Given the description of an element on the screen output the (x, y) to click on. 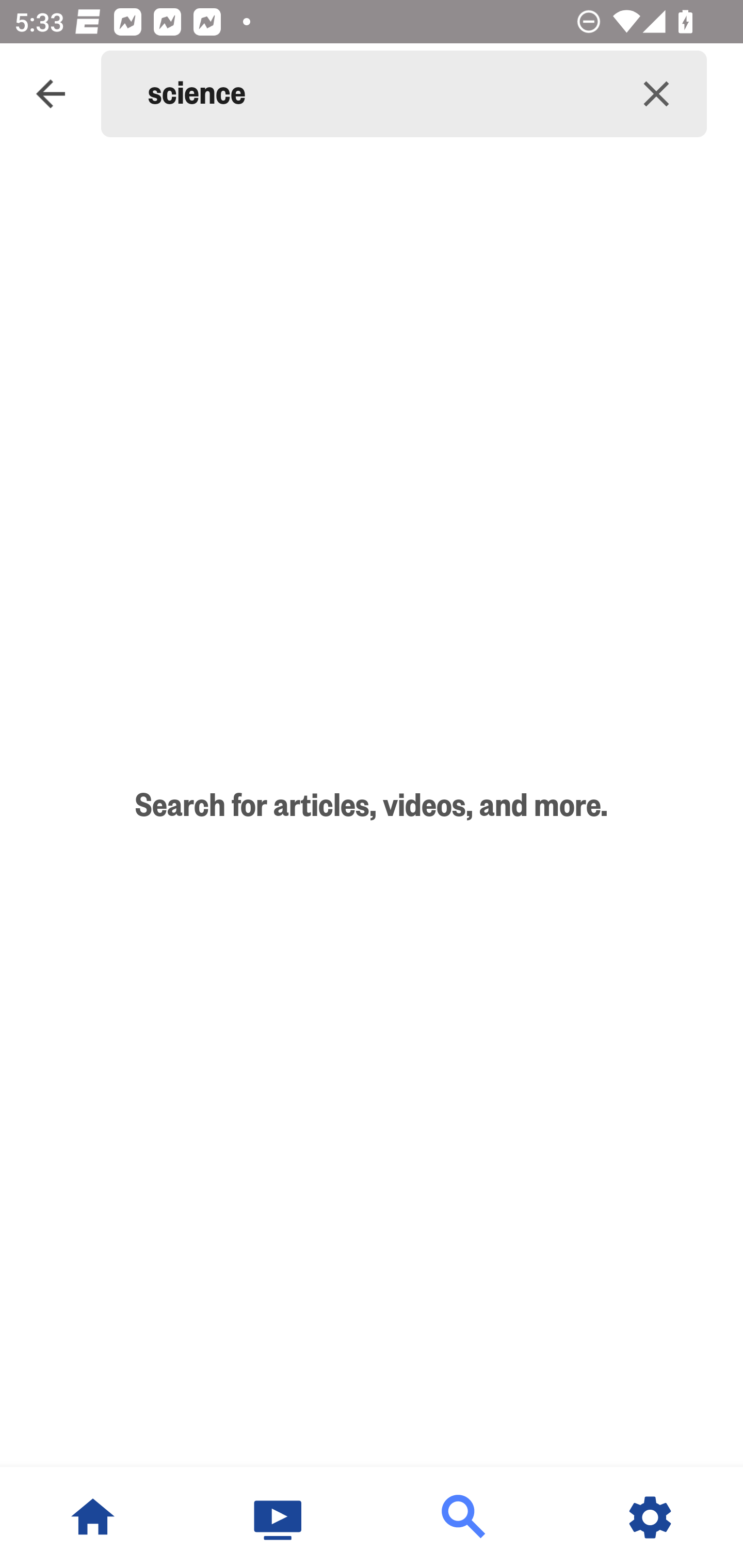
Navigate up (50, 93)
Clear query (656, 93)
science (376, 94)
NBC News Home (92, 1517)
Watch (278, 1517)
Settings (650, 1517)
